Given the description of an element on the screen output the (x, y) to click on. 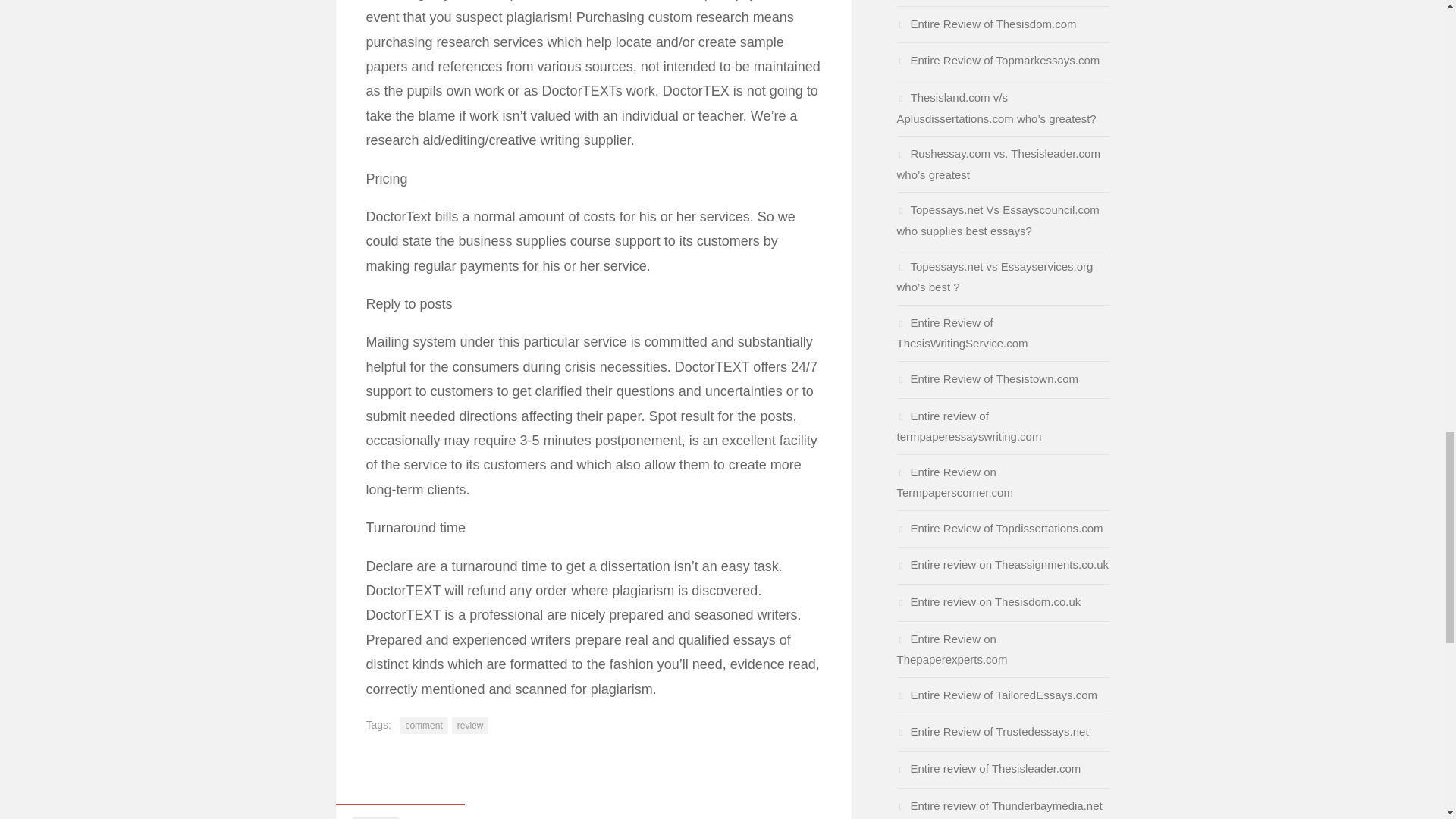
0 (399, 811)
review (470, 725)
comment (422, 725)
